Given the description of an element on the screen output the (x, y) to click on. 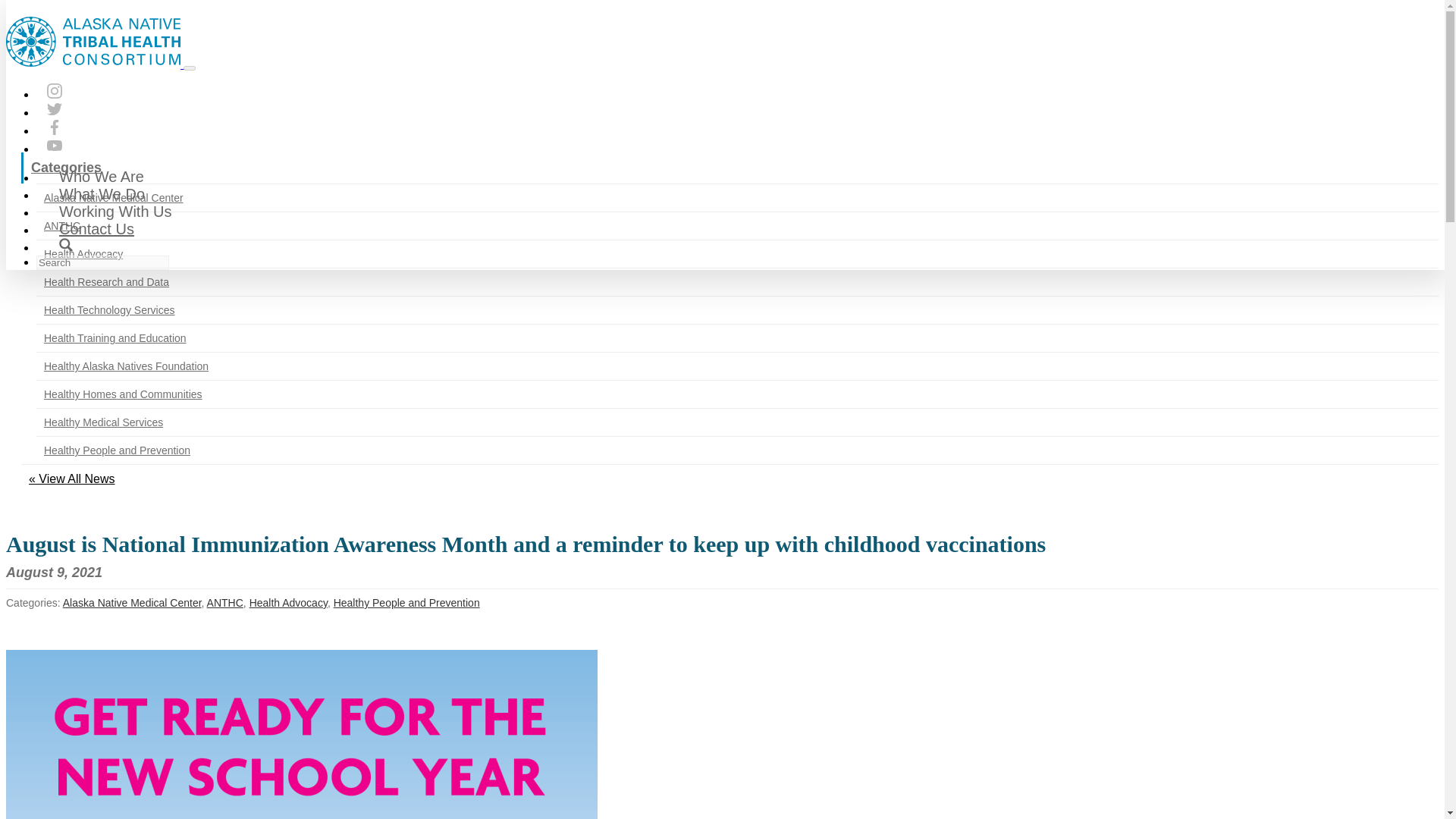
Who We Are (101, 176)
What We Do (101, 193)
